Given the description of an element on the screen output the (x, y) to click on. 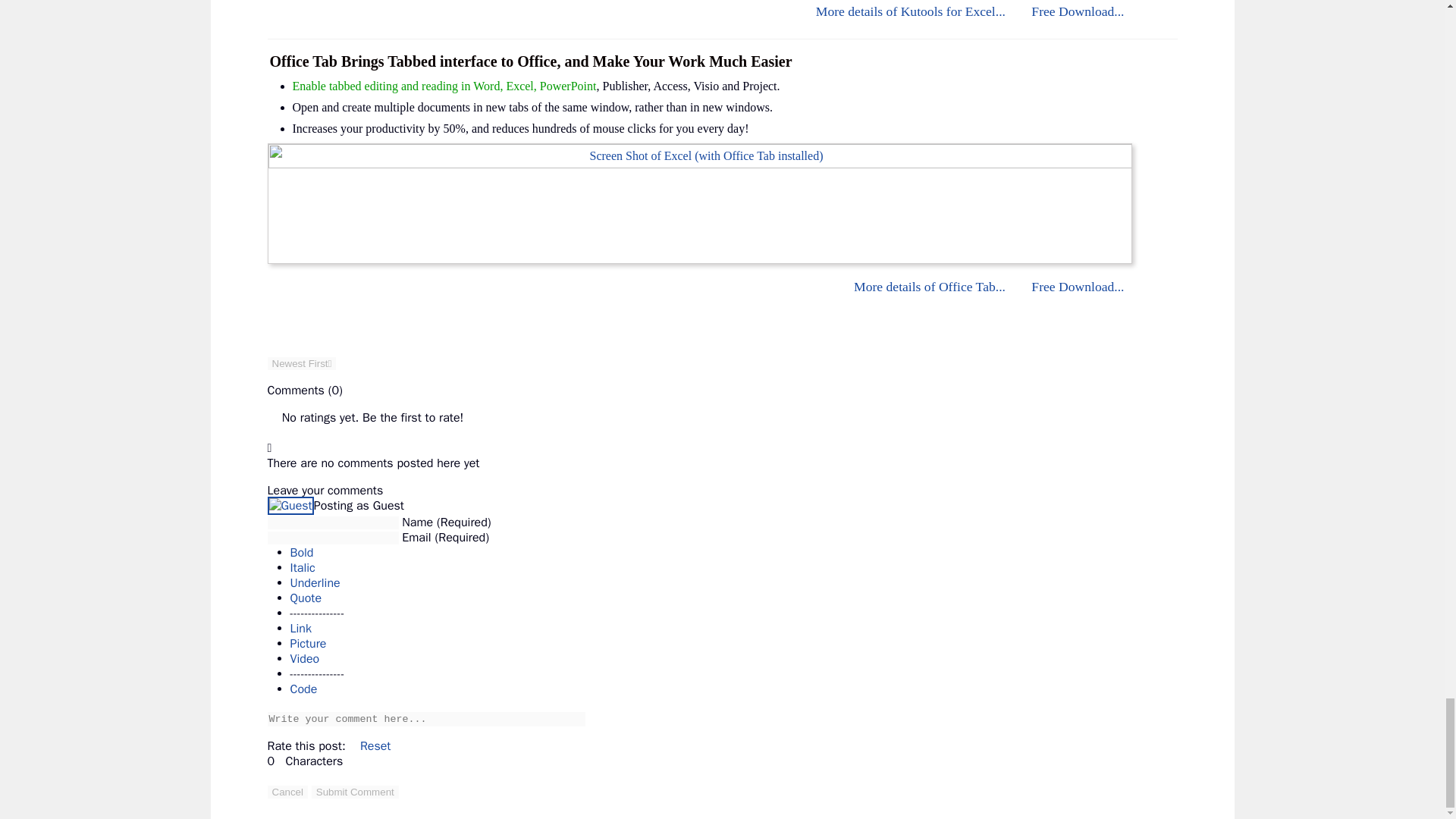
Not rated yet! (273, 417)
